Given the description of an element on the screen output the (x, y) to click on. 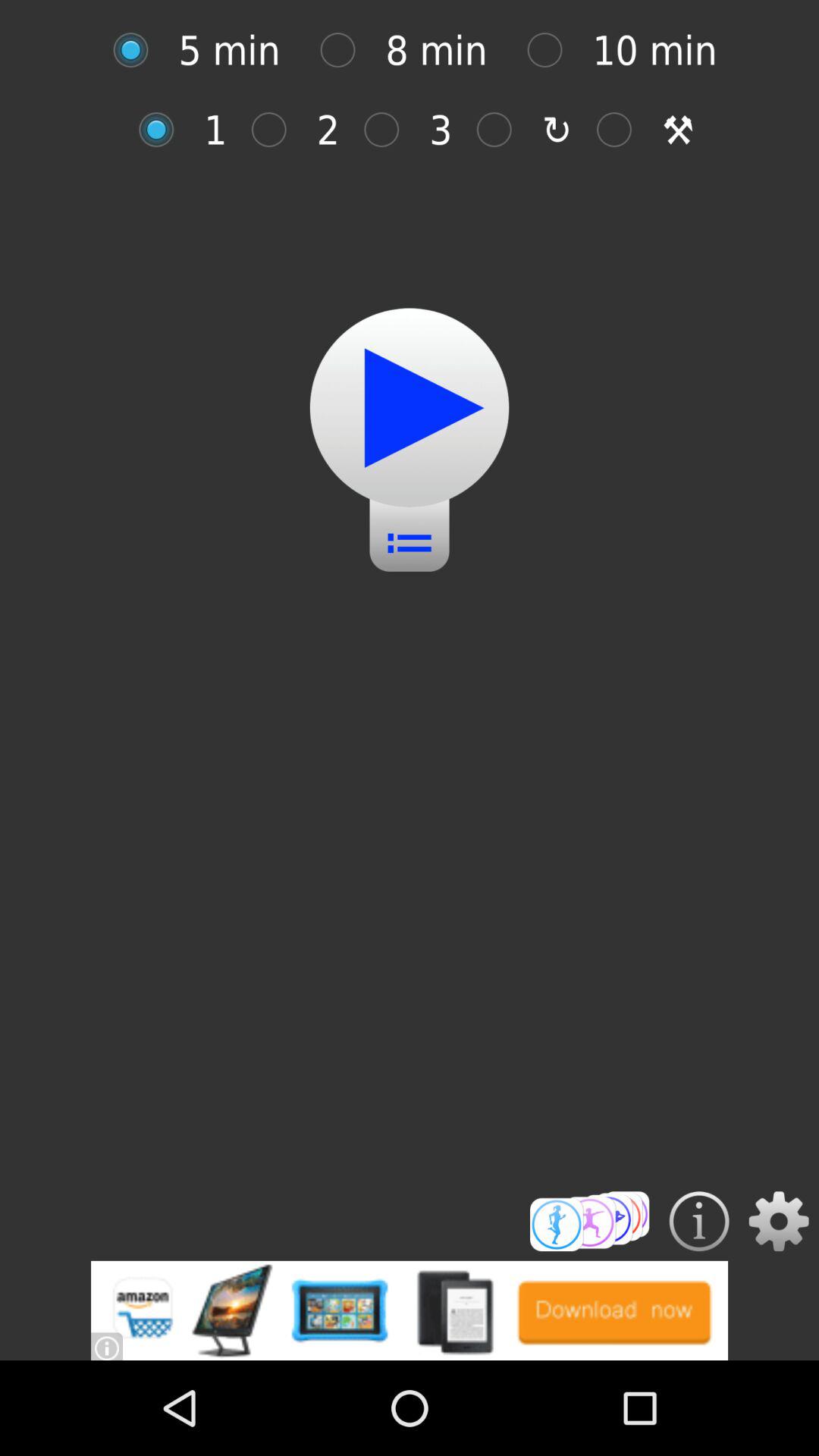
selection button (345, 49)
